Given the description of an element on the screen output the (x, y) to click on. 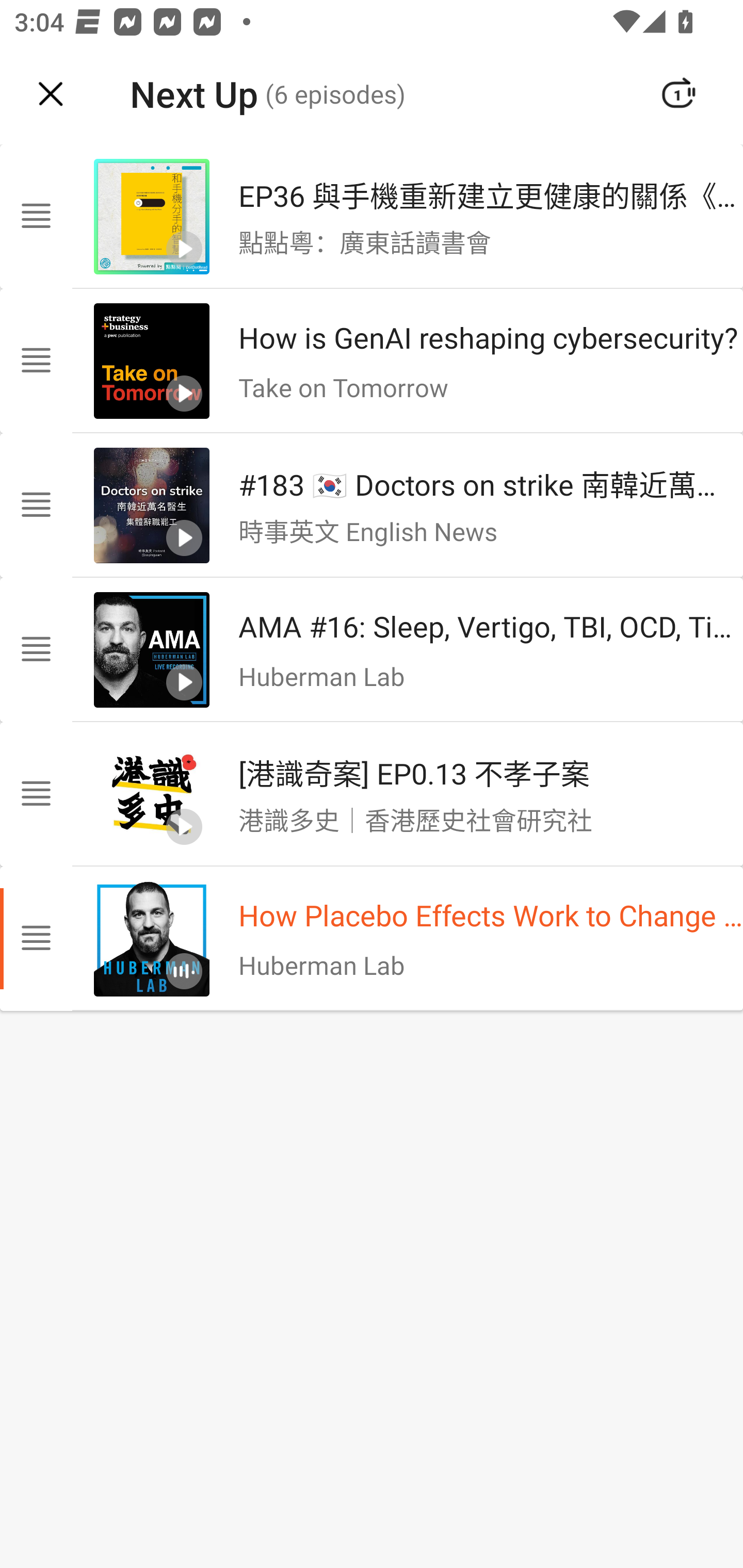
Navigate up (50, 93)
